Given the description of an element on the screen output the (x, y) to click on. 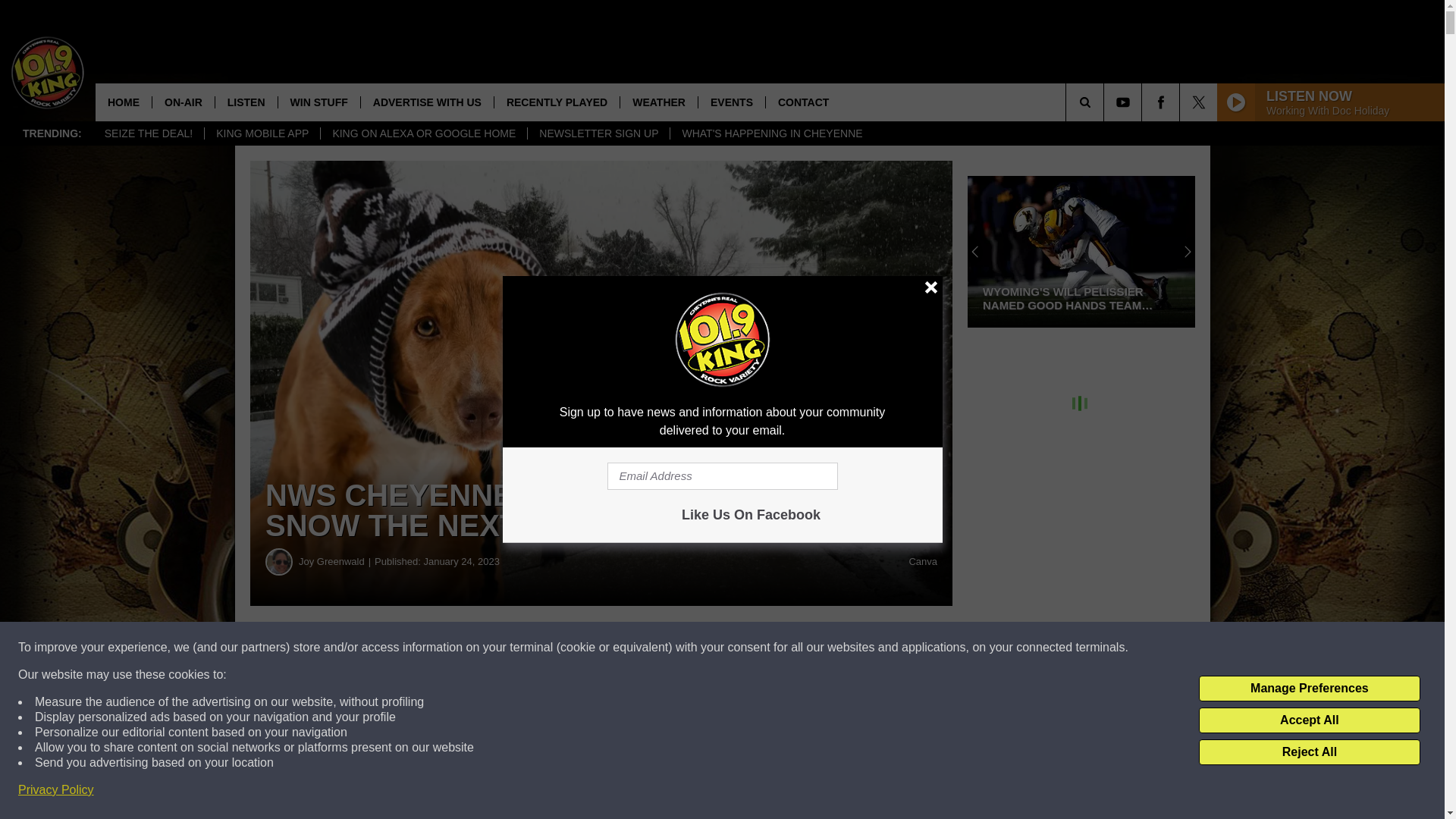
SEIZE THE DEAL! (148, 133)
WEATHER (658, 102)
SEARCH (1106, 102)
Accept All (1309, 720)
LISTEN (246, 102)
KING MOBILE APP (261, 133)
ON-AIR (182, 102)
Share on Facebook (460, 647)
Manage Preferences (1309, 688)
WIN STUFF (318, 102)
TRENDING: (52, 133)
NEWSLETTER SIGN UP (598, 133)
EVENTS (731, 102)
ADVERTISE WITH US (426, 102)
Privacy Policy (55, 789)
